Given the description of an element on the screen output the (x, y) to click on. 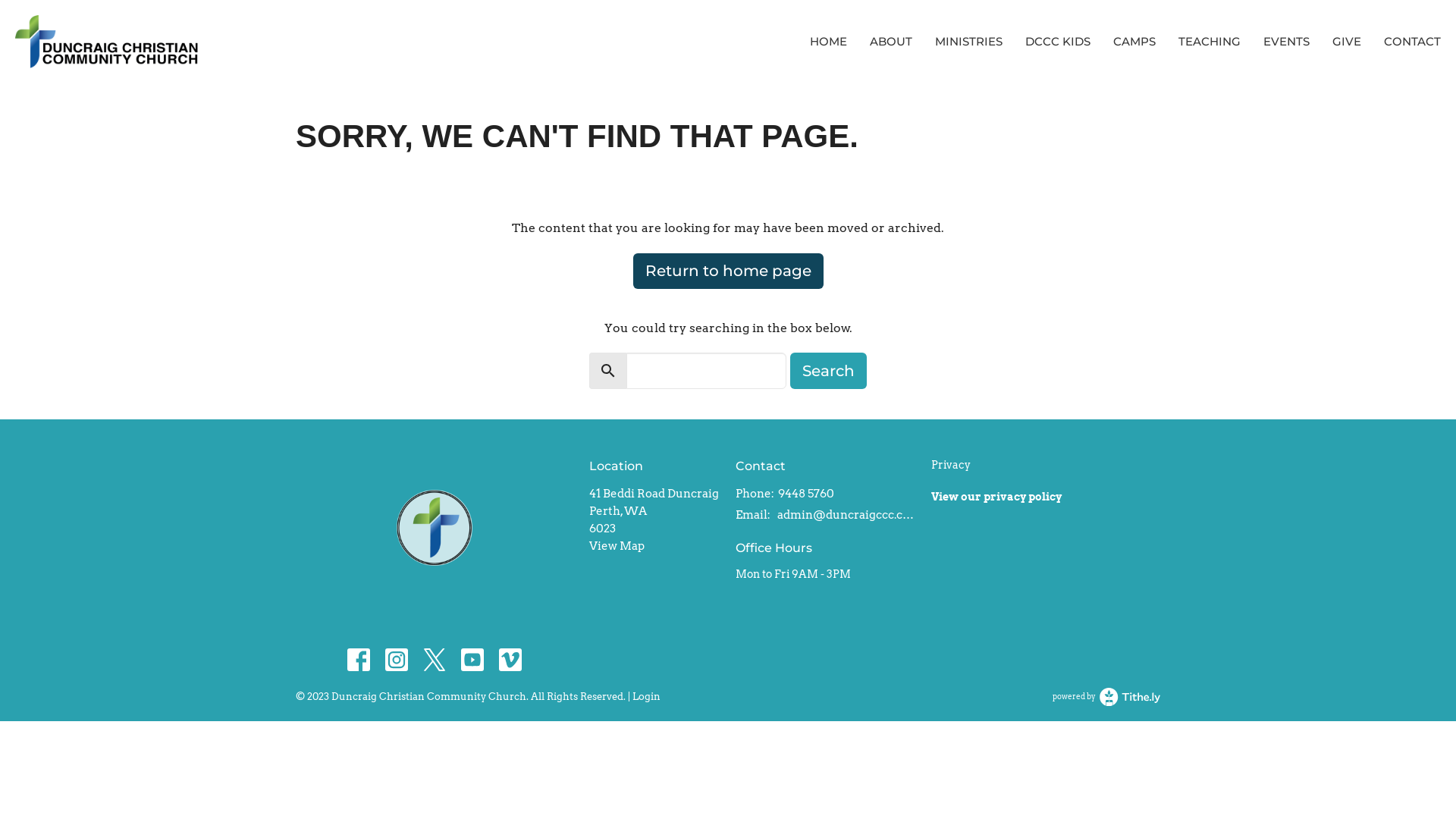
GIVE Element type: text (1346, 40)
TEACHING Element type: text (1209, 40)
CONTACT Element type: text (1411, 40)
ABOUT Element type: text (890, 40)
View Map Element type: text (616, 545)
9448 5760 Element type: text (806, 493)
CAMPS Element type: text (1134, 40)
HOME Element type: text (828, 40)
powered by
Website Developed by Tithely Element type: text (1106, 696)
DCCC KIDS Element type: text (1057, 40)
EVENTS Element type: text (1286, 40)
MINISTRIES Element type: text (968, 40)
Return to home page Element type: text (727, 270)
View our privacy policy Element type: text (996, 496)
Search Element type: text (828, 370)
admin@duncraigccc.com.au Element type: text (846, 515)
Login Element type: text (646, 696)
